Given the description of an element on the screen output the (x, y) to click on. 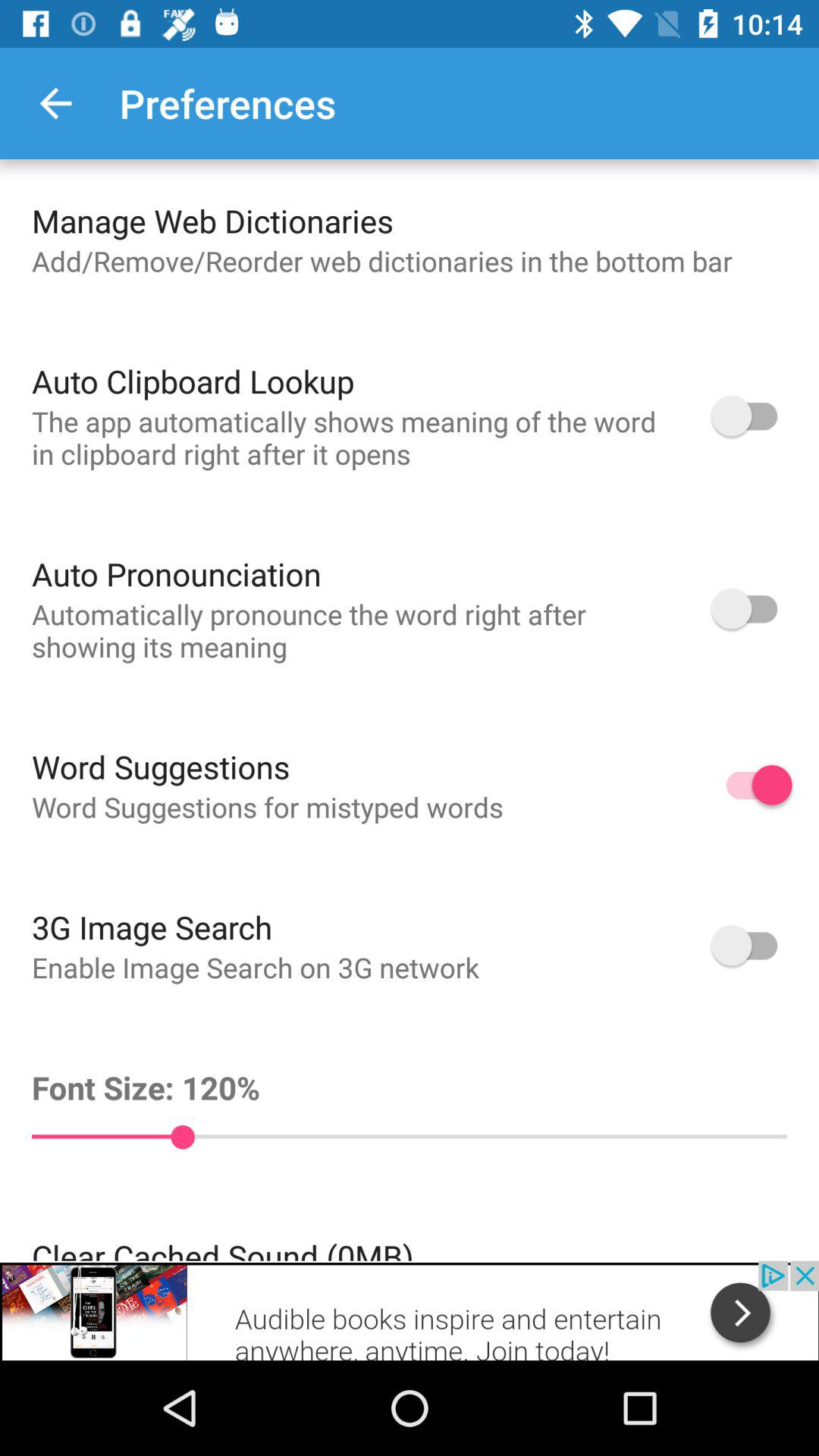
select the word suggestion option (751, 785)
